Given the description of an element on the screen output the (x, y) to click on. 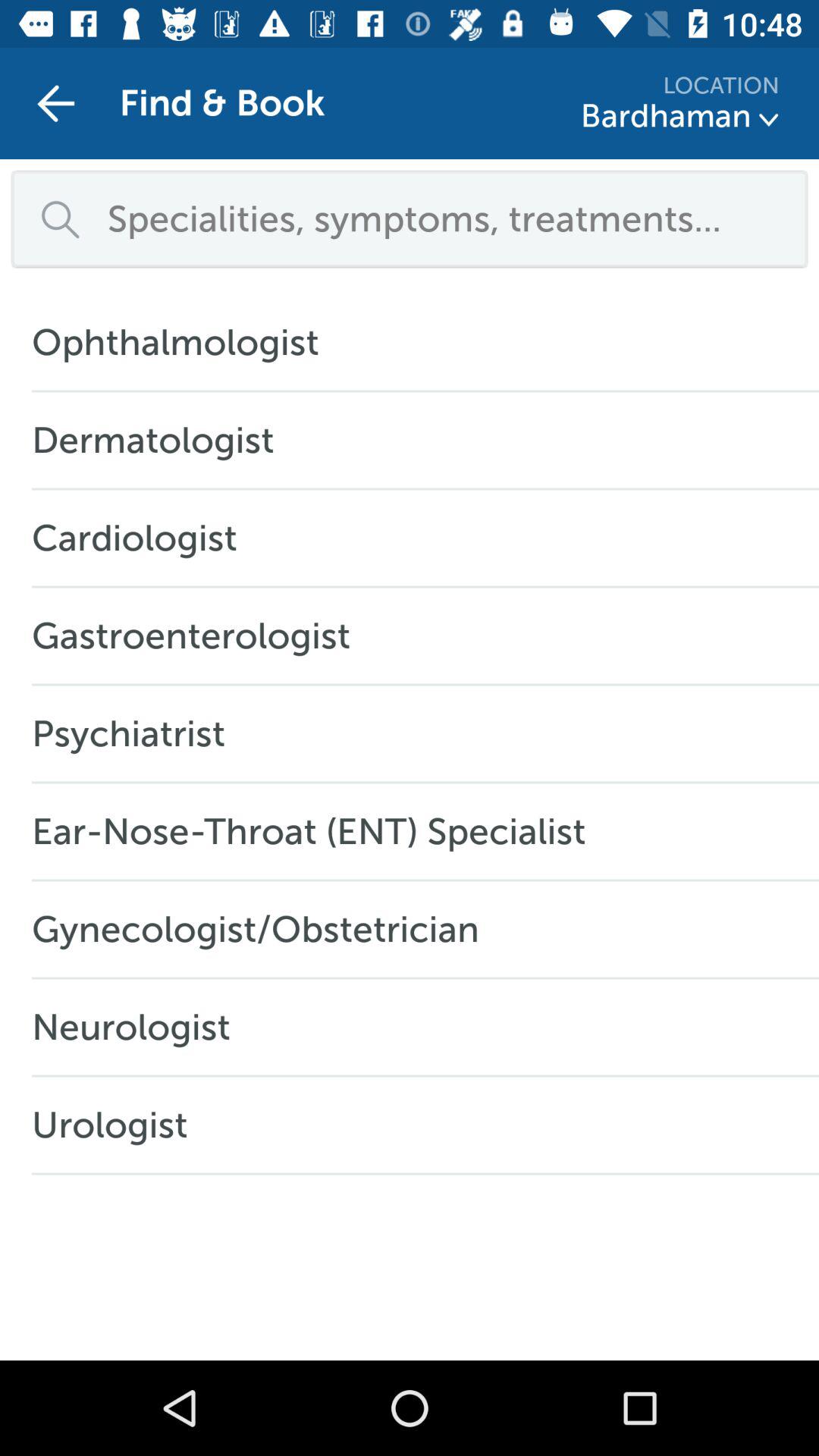
choose the gastroenterologist icon (198, 635)
